Given the description of an element on the screen output the (x, y) to click on. 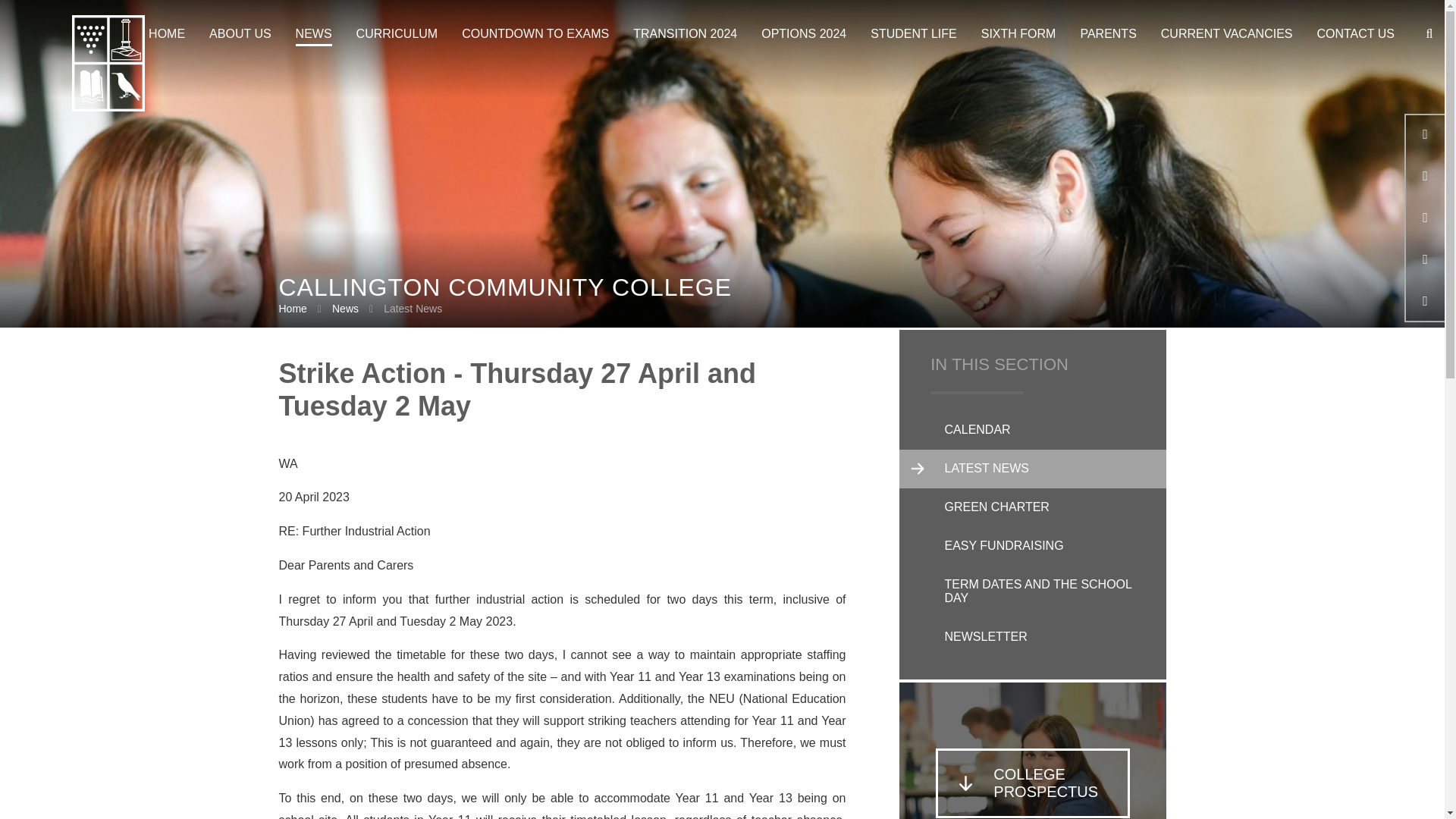
ABOUT US (239, 34)
HOME (166, 34)
